Given the description of an element on the screen output the (x, y) to click on. 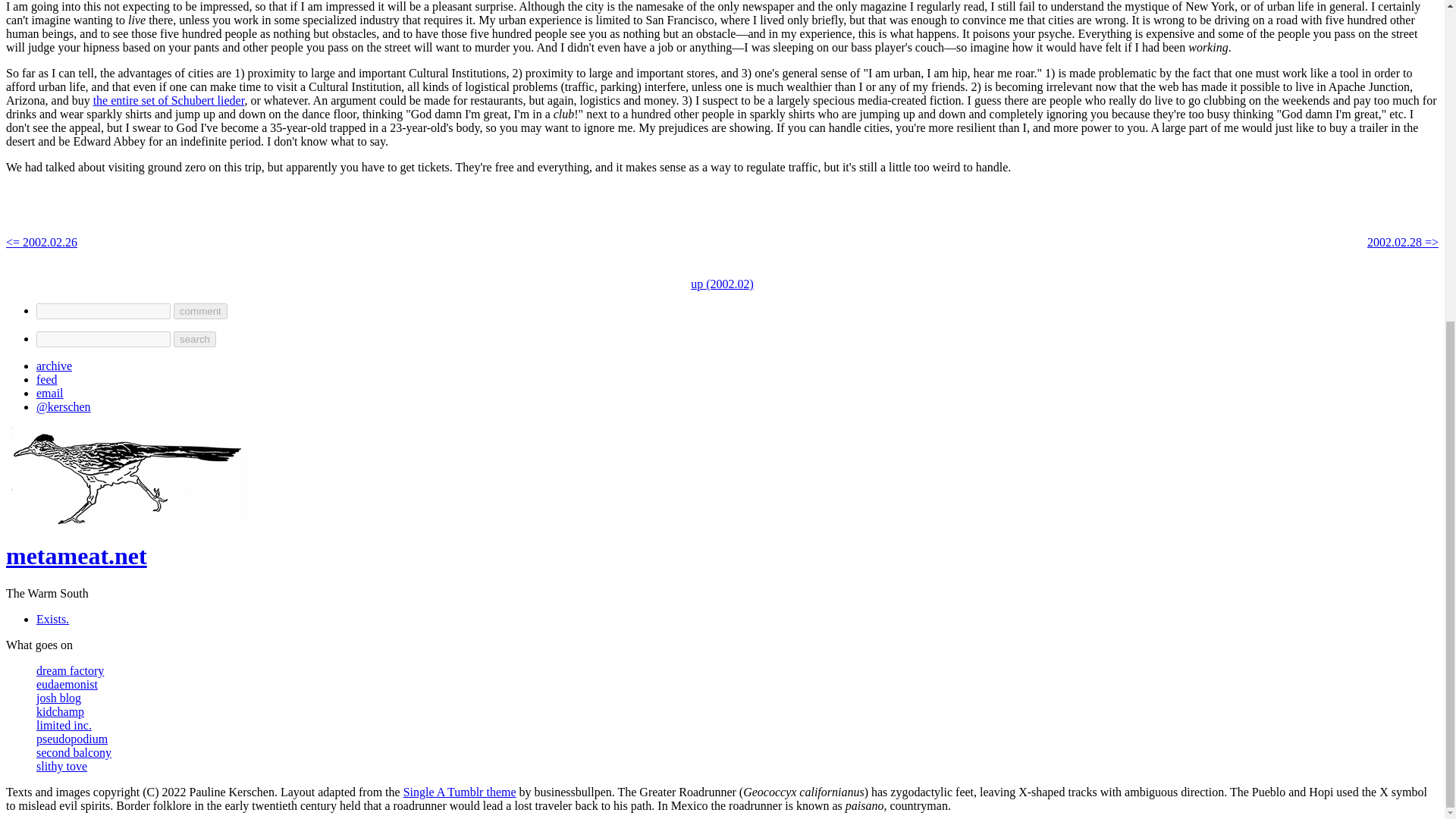
search (194, 339)
feed (47, 379)
slithy tove (61, 766)
the entire set of Schubert lieder (168, 100)
pseudopodium (71, 738)
search (194, 339)
eudaemonist (66, 684)
josh blog (58, 697)
comment (200, 311)
email (50, 392)
metameat.net (76, 555)
kidchamp (60, 711)
Single A Tumblr theme (459, 791)
limited inc. (63, 725)
dream factory (69, 670)
